Given the description of an element on the screen output the (x, y) to click on. 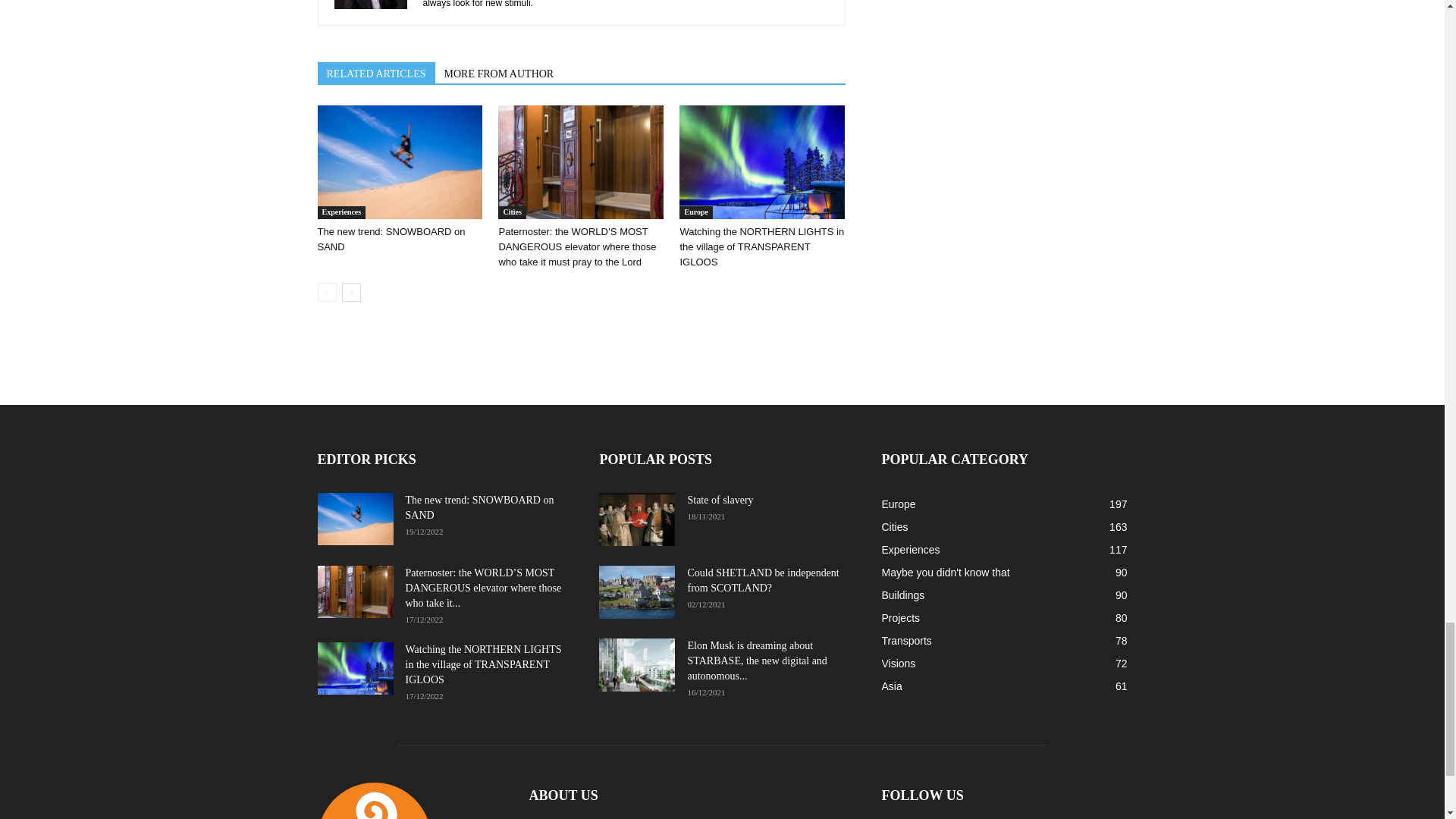
The new trend: SNOWBOARD on SAND (399, 162)
The new trend: SNOWBOARD on SAND (390, 239)
